Given the description of an element on the screen output the (x, y) to click on. 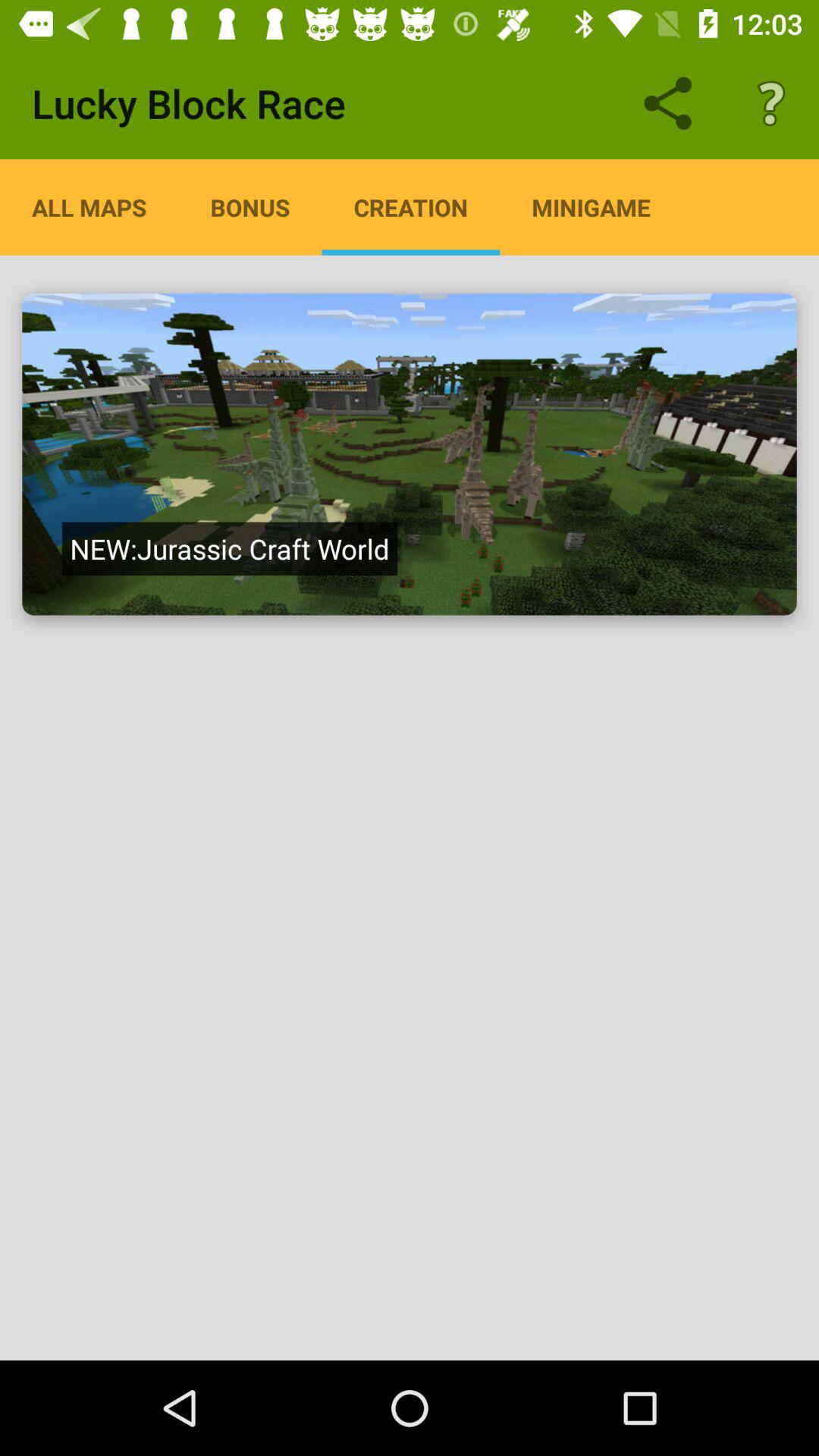
select icon below lucky block race (89, 207)
